Given the description of an element on the screen output the (x, y) to click on. 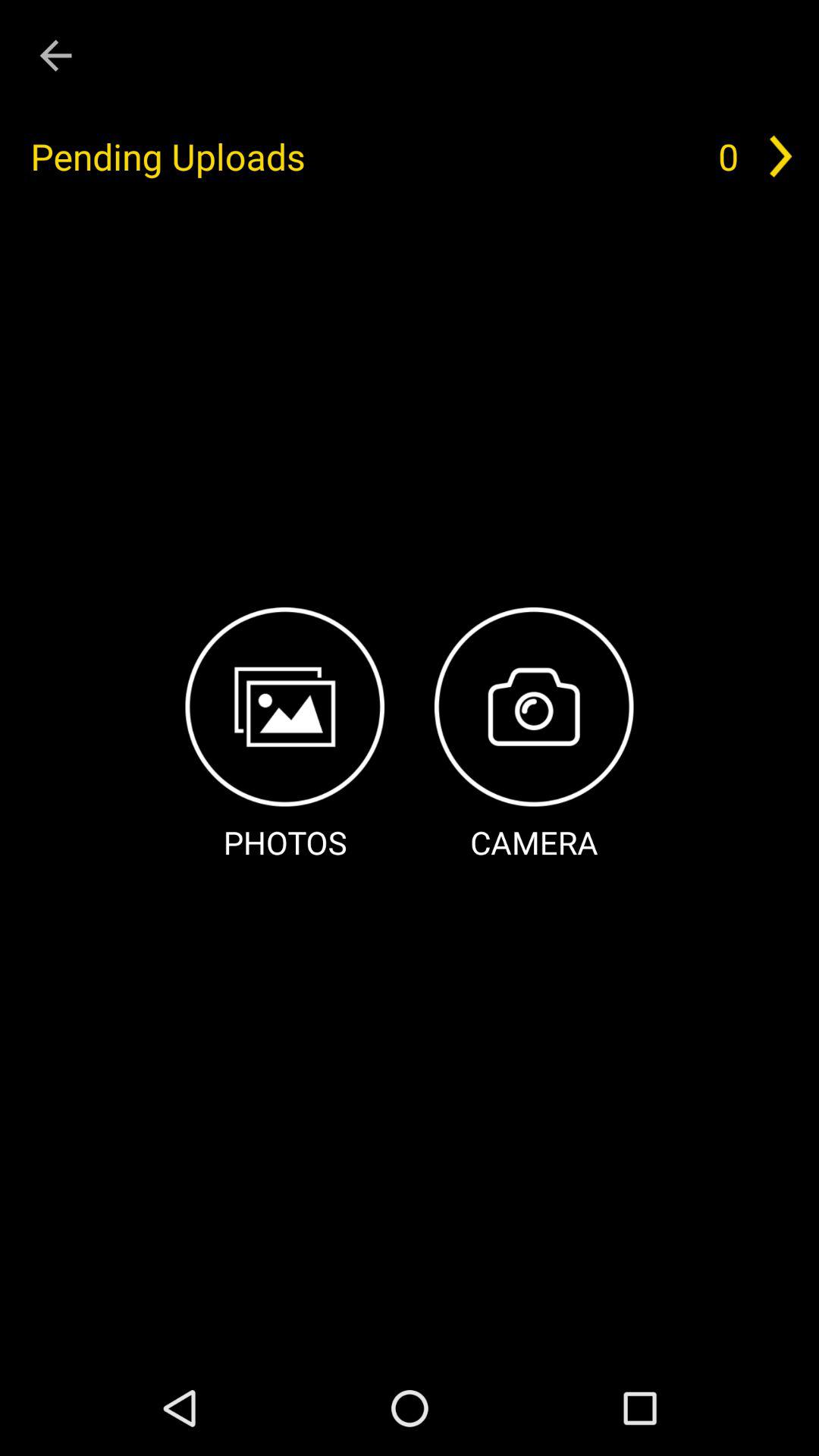
select the item below pending uploads item (284, 735)
